Given the description of an element on the screen output the (x, y) to click on. 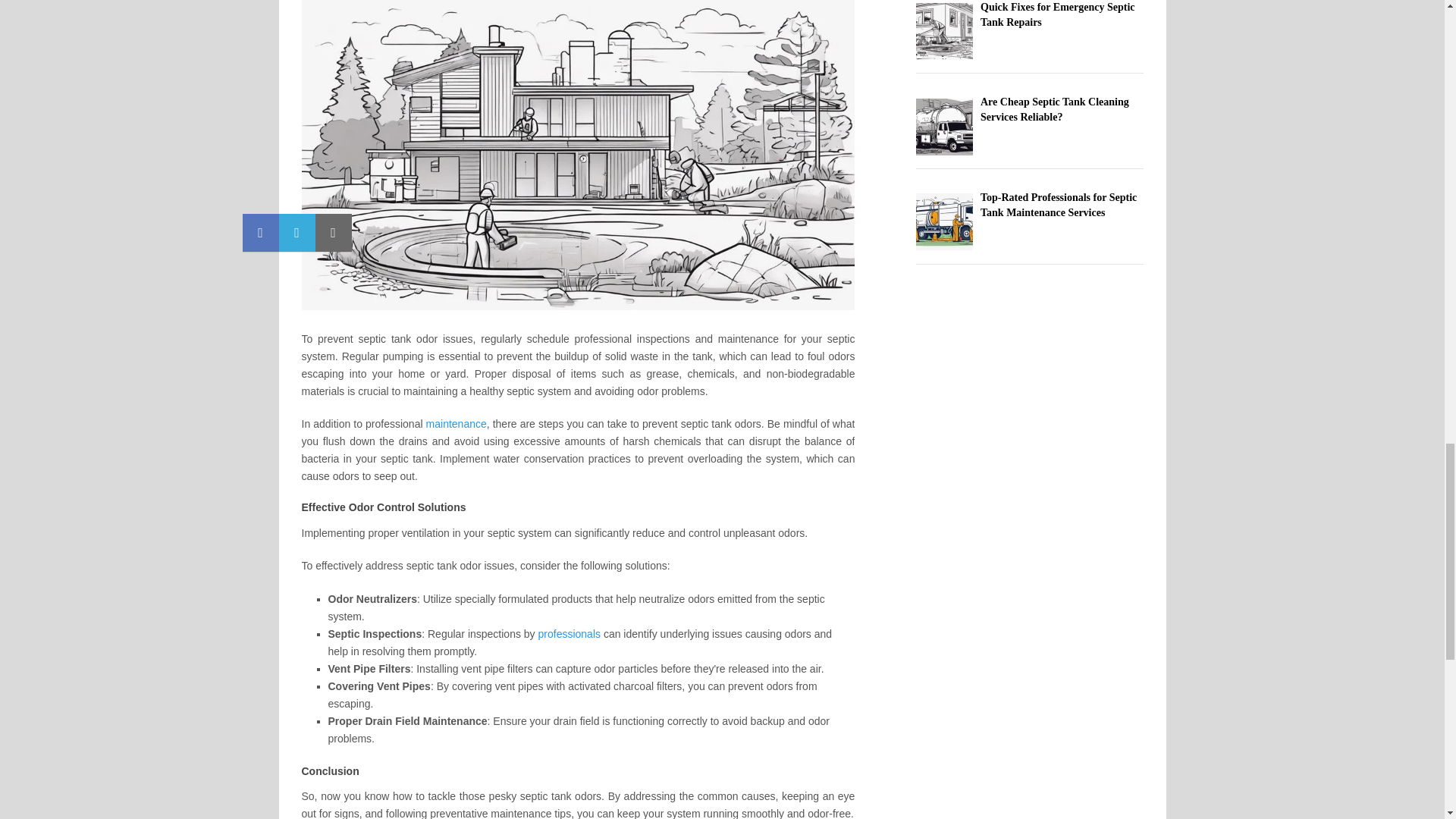
Are Cheap Septic Tank Cleaning Services Reliable? (1054, 109)
Get FREE Septic Service Quote! (569, 633)
Quick Fixes for Emergency Septic Tank Repairs (1057, 14)
professionals (569, 633)
maintenance (456, 423)
Get FREE Septic Service Quote! (456, 423)
